Given the description of an element on the screen output the (x, y) to click on. 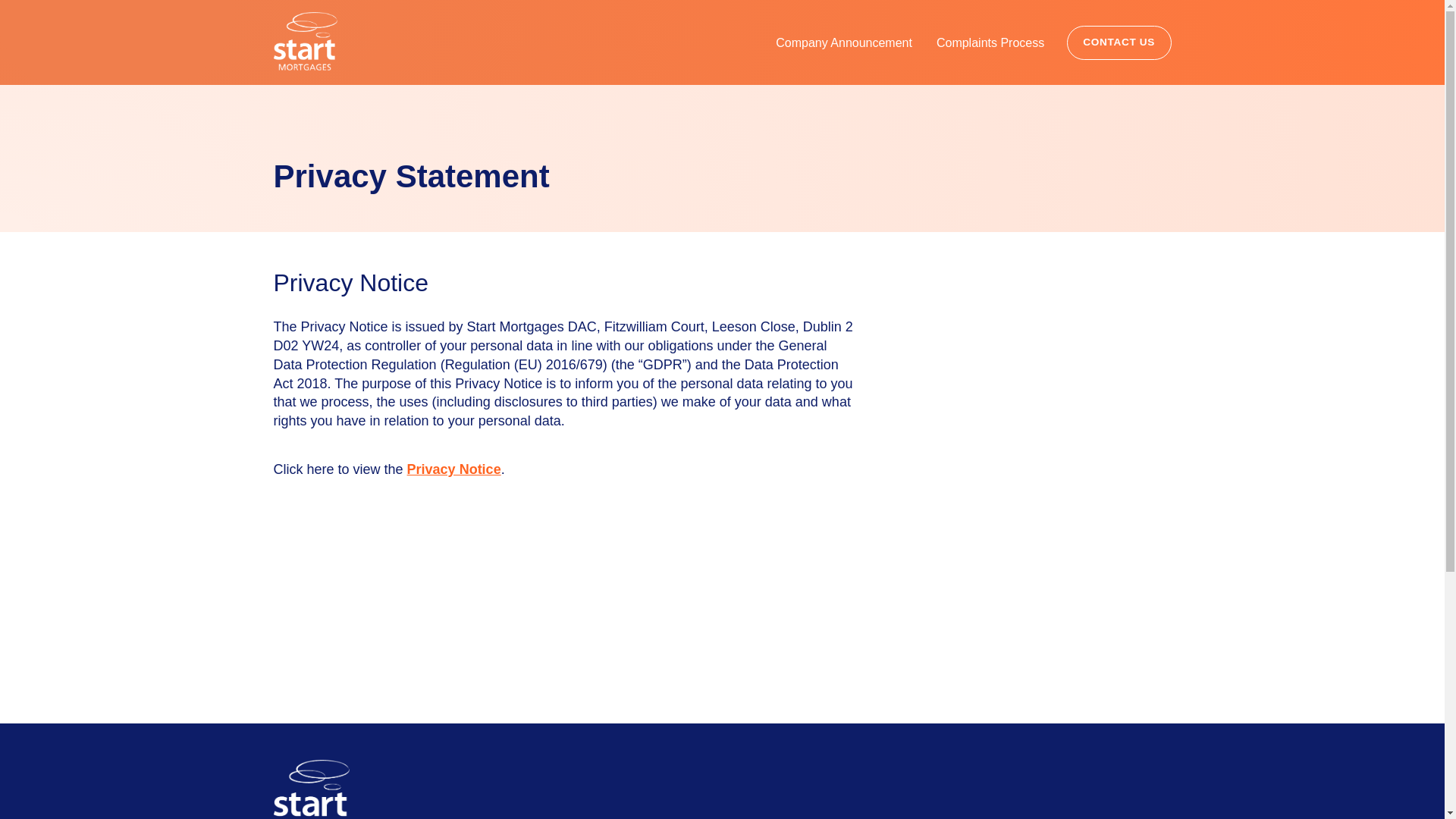
Start Mortgages Homepage (304, 41)
CONTACT US (1119, 42)
Privacy Notice (453, 468)
Complaints Process (990, 42)
Start Mortgages Homepage (311, 789)
Contact us (1119, 42)
Company Announcement (843, 42)
